Given the description of an element on the screen output the (x, y) to click on. 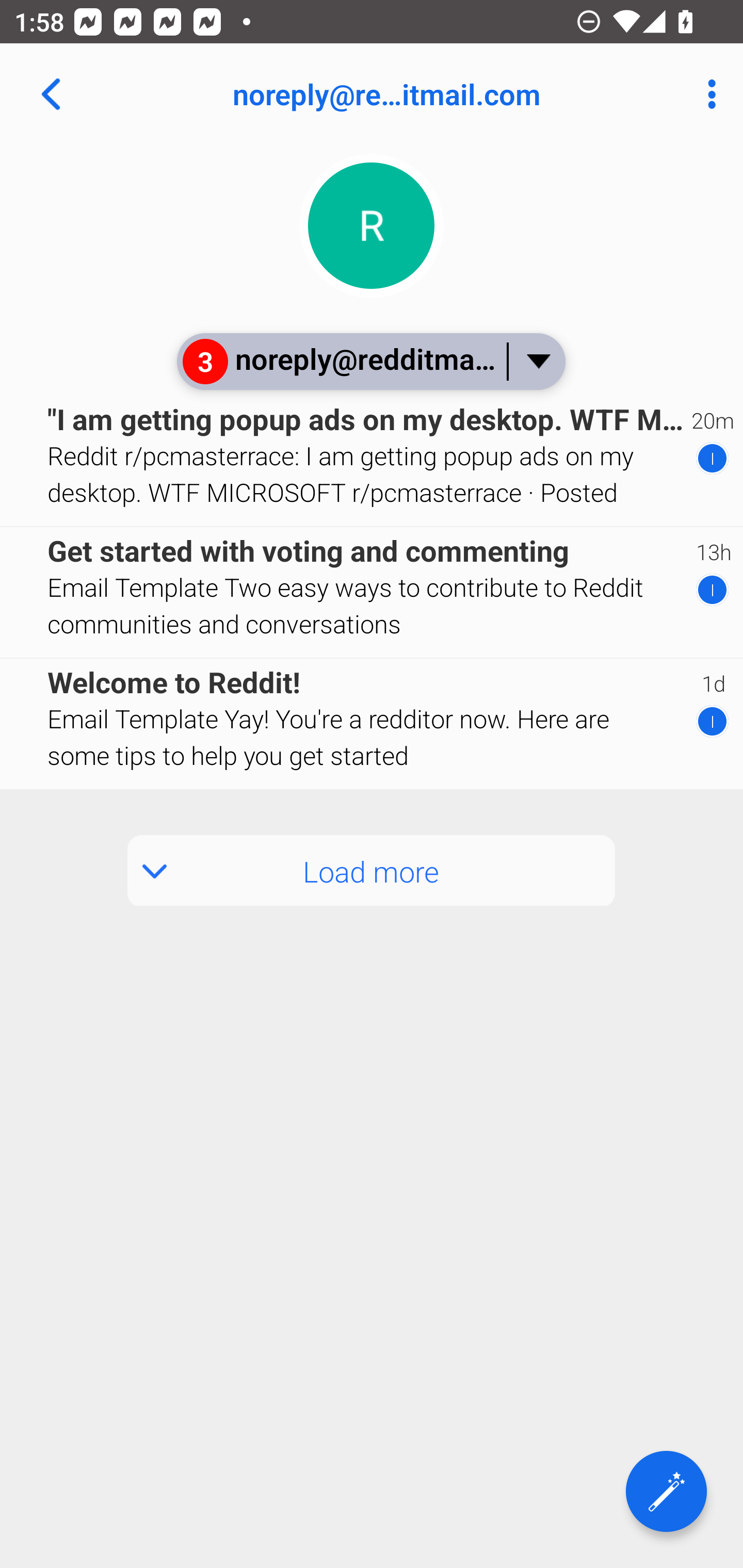
Navigate up (50, 93)
noreply@redditmail.com (436, 93)
More Options (706, 93)
3 noreply@redditmail.com & You (370, 361)
Load more (371, 870)
